Given the description of an element on the screen output the (x, y) to click on. 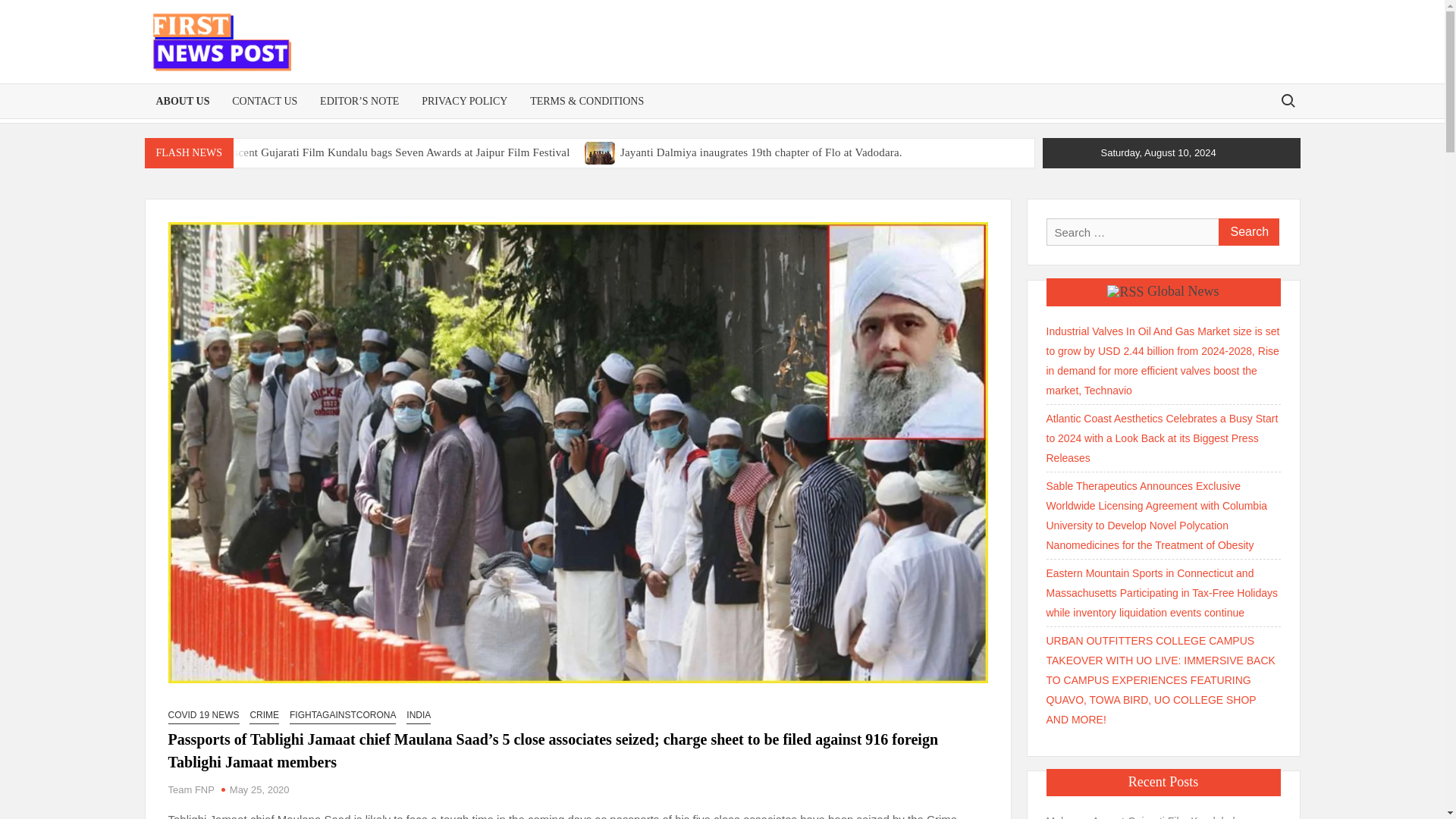
Jayanti Dalmiya inaugrates 19th chapter of Flo at Vadodara. (761, 152)
PRIVACY POLICY (464, 100)
MSM showcased as exhibitor at CiCan 2022 connection. (514, 177)
CONTACT US (264, 100)
Search (1247, 231)
Search (1247, 231)
COVID 19 NEWS (204, 715)
Jayanti Dalmiya inaugrates 19th chapter of Flo at Vadodara. (601, 151)
